Given the description of an element on the screen output the (x, y) to click on. 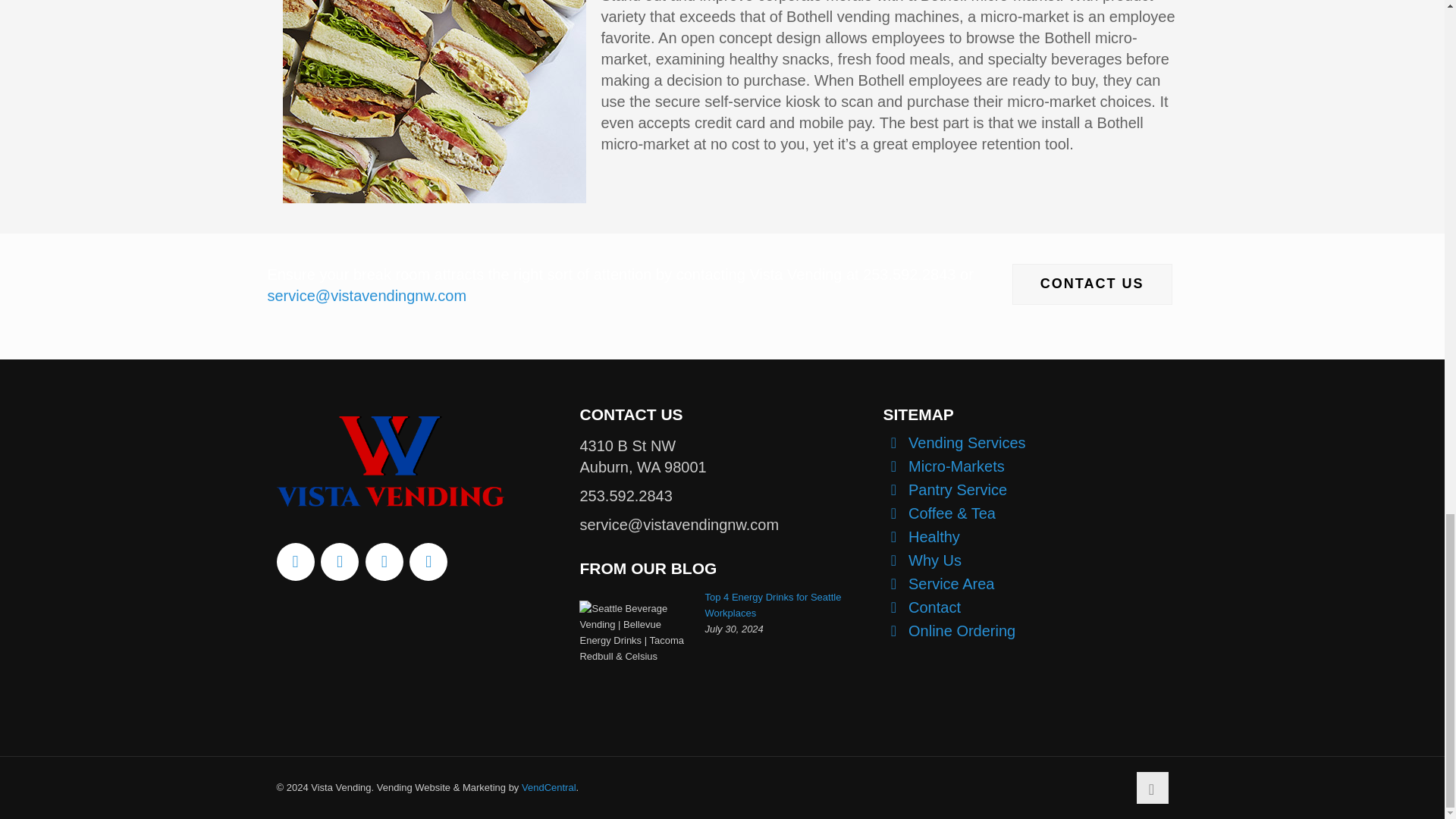
Top 4 Energy Drinks for Seattle Workplaces (772, 605)
Top 4 Energy Drinks for Seattle Workplaces (772, 605)
Vending Services (967, 442)
Contact us (1091, 283)
CONTACT US (1091, 283)
Micro-Markets (956, 466)
